Given the description of an element on the screen output the (x, y) to click on. 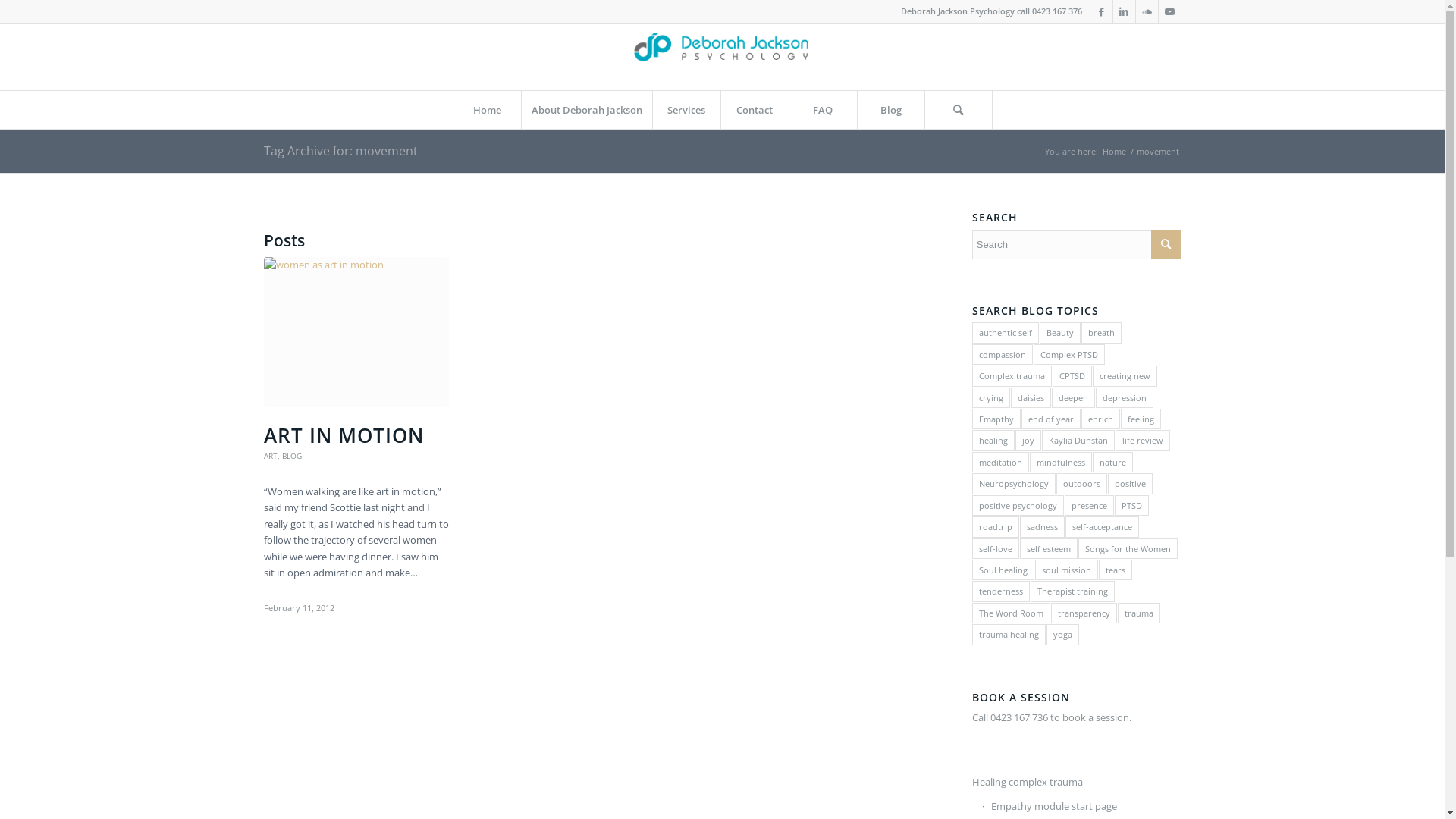
Home Element type: text (485, 109)
Therapist training Element type: text (1072, 590)
sadness Element type: text (1041, 526)
end of year Element type: text (1050, 418)
Emapthy Element type: text (996, 418)
crying Element type: text (991, 397)
Home Element type: text (1113, 150)
deepen Element type: text (1073, 397)
enrich Element type: text (1100, 418)
nature Element type: text (1112, 461)
life review Element type: text (1142, 439)
CPTSD Element type: text (1072, 375)
Services Element type: text (686, 109)
self-acceptance Element type: text (1102, 526)
tears Element type: text (1115, 569)
yoga Element type: text (1062, 634)
healing Element type: text (993, 439)
ART IN MOTION Element type: text (343, 434)
About Deborah Jackson Element type: text (585, 109)
BLOG Element type: text (291, 455)
daisies Element type: text (1030, 397)
tenderness Element type: text (1000, 590)
Tag Archive for: movement Element type: text (340, 150)
Kaylia Dunstan Element type: text (1077, 439)
Beauty Element type: text (1059, 332)
LinkedIn Element type: hover (1124, 11)
Complex PTSD Element type: text (1068, 354)
transparency Element type: text (1084, 612)
PTSD Element type: text (1131, 505)
Neuropsychology Element type: text (1013, 483)
Complex trauma Element type: text (1011, 375)
The Word Room Element type: text (1011, 612)
compassion Element type: text (1002, 354)
Art in motion Element type: hover (355, 332)
Healing complex trauma Element type: text (1076, 782)
FAQ Element type: text (822, 109)
breath Element type: text (1101, 332)
positive Element type: text (1129, 483)
self esteem Element type: text (1048, 548)
Songs for the Women Element type: text (1127, 548)
Contact Element type: text (754, 109)
Soundcloud Element type: hover (1146, 11)
outdoors Element type: text (1081, 483)
depression Element type: text (1124, 397)
Soul healing Element type: text (1003, 569)
ART Element type: text (270, 455)
roadtrip Element type: text (995, 526)
feeling Element type: text (1140, 418)
creating new Element type: text (1124, 375)
Youtube Element type: hover (1169, 11)
trauma healing Element type: text (1008, 634)
authentic self Element type: text (1005, 332)
joy Element type: text (1028, 439)
Facebook Element type: hover (1101, 11)
positive psychology Element type: text (1017, 505)
self-love Element type: text (995, 548)
mindfulness Element type: text (1060, 461)
soul mission Element type: text (1066, 569)
Blog Element type: text (890, 109)
presence Element type: text (1088, 505)
trauma Element type: text (1138, 612)
meditation Element type: text (1000, 461)
